Given the description of an element on the screen output the (x, y) to click on. 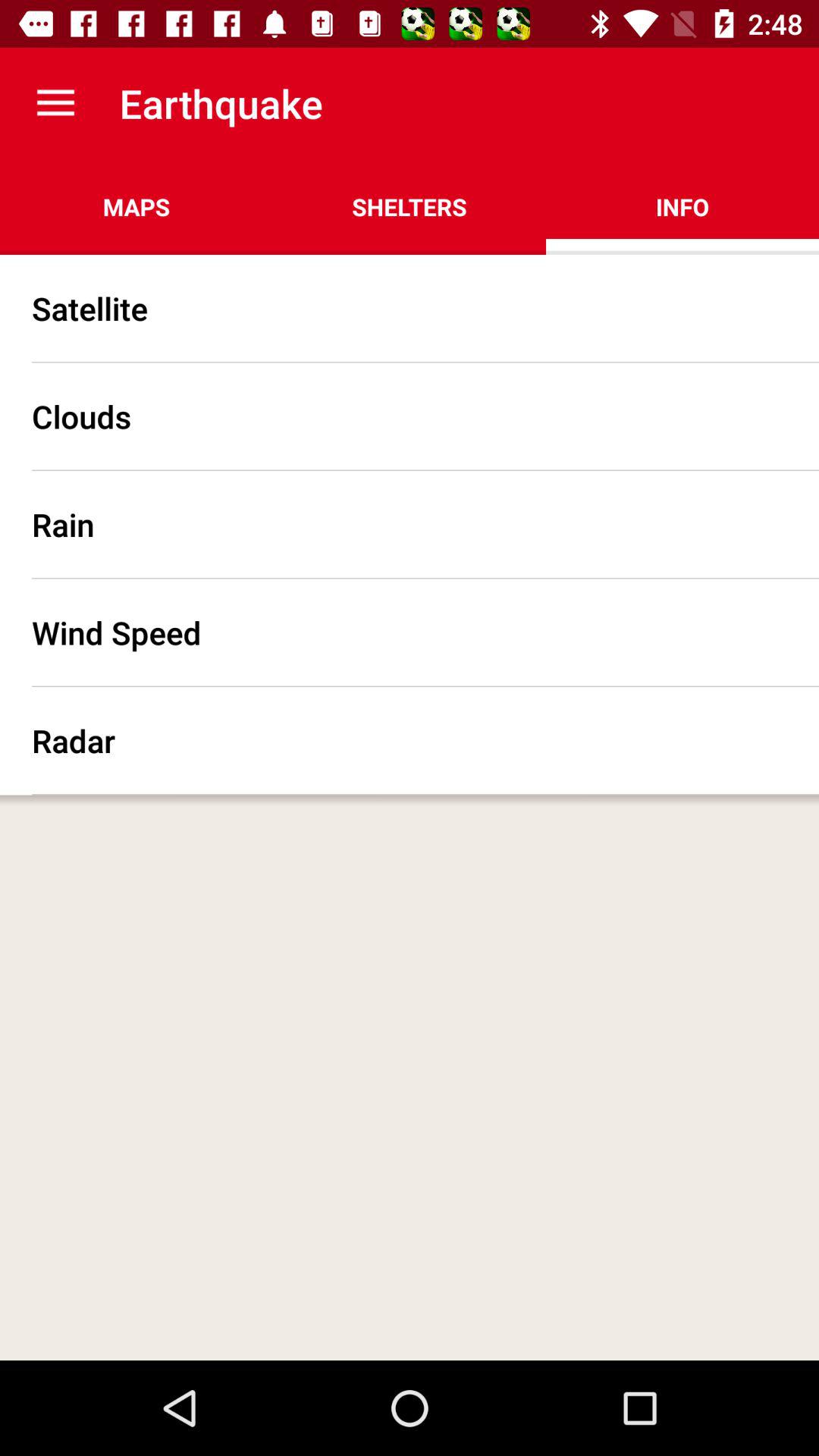
turn off app to the left of info app (409, 206)
